Given the description of an element on the screen output the (x, y) to click on. 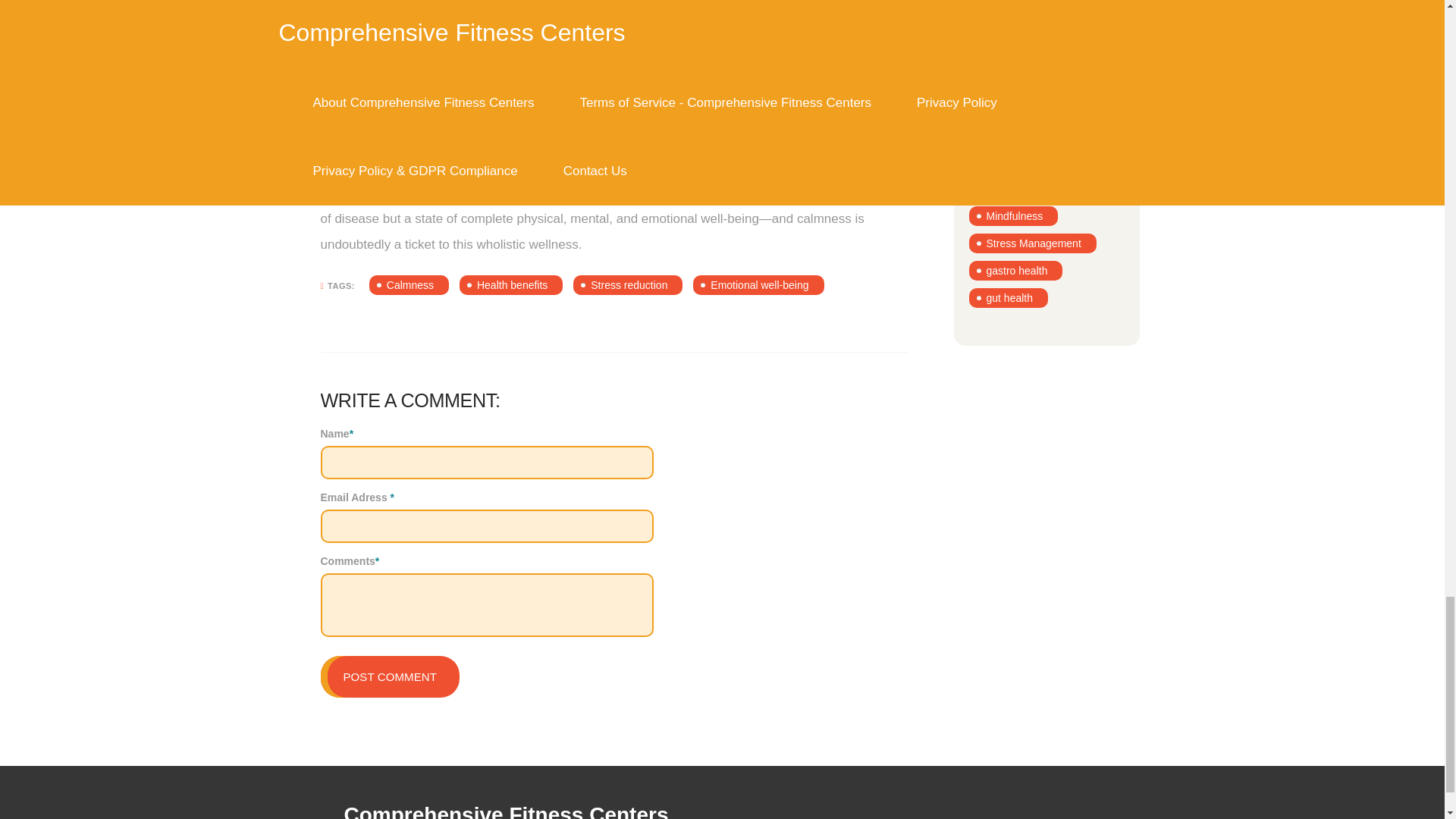
Emotional well-being (758, 284)
stress relief (1013, 3)
Stress reduction (627, 284)
Health benefits (511, 284)
Calmness (408, 284)
Mental Health (1018, 25)
POST COMMENT (389, 676)
